Given the description of an element on the screen output the (x, y) to click on. 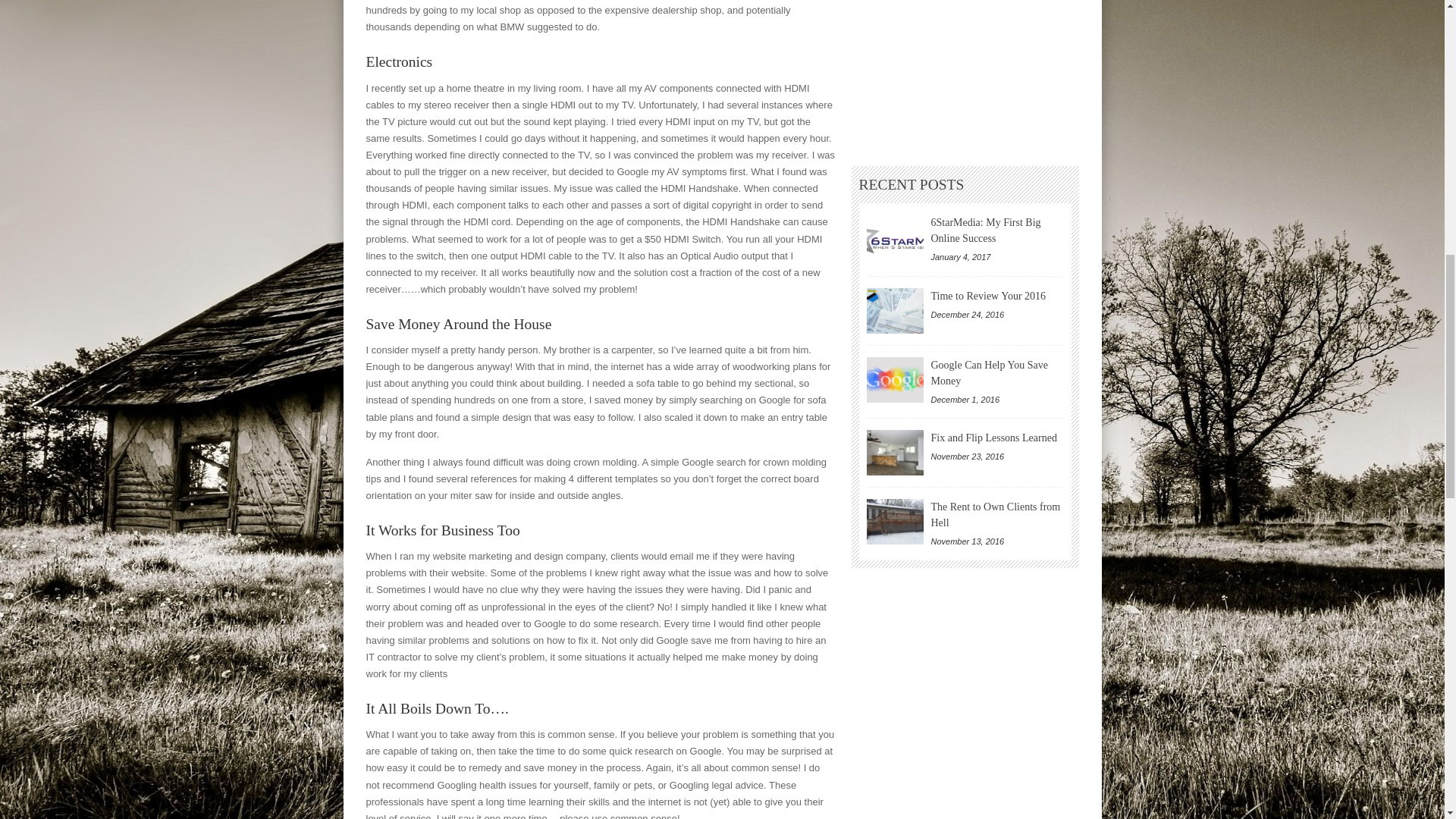
Advertisement (964, 69)
6StarMedia: My First Big Online Success (986, 230)
Time to Review Your 2016 (894, 310)
6StarMedia: My First Big Online Success (894, 237)
